Given the description of an element on the screen output the (x, y) to click on. 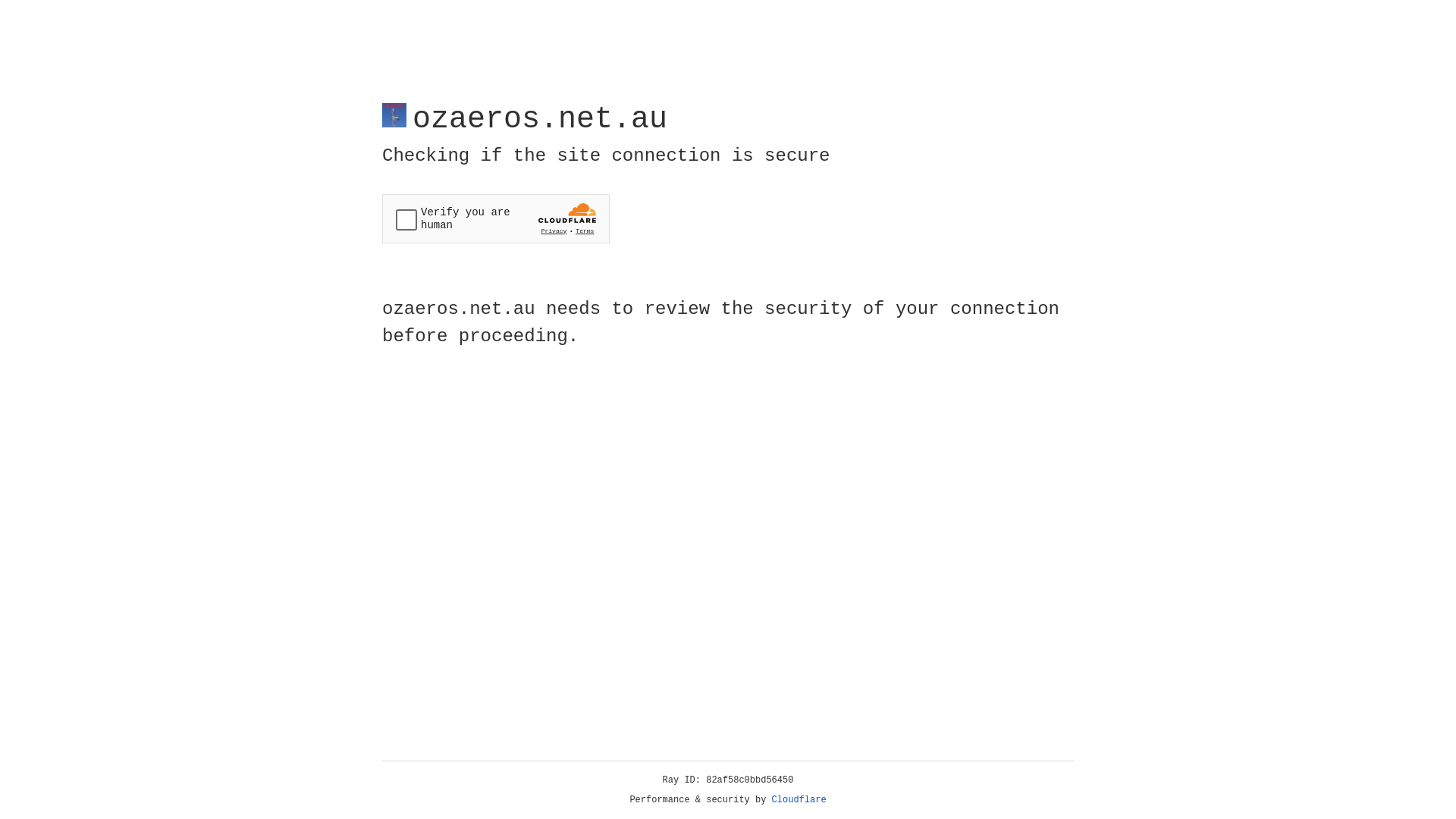
Cloudflare Element type: text (798, 799)
Widget containing a Cloudflare security challenge Element type: hover (495, 218)
